Given the description of an element on the screen output the (x, y) to click on. 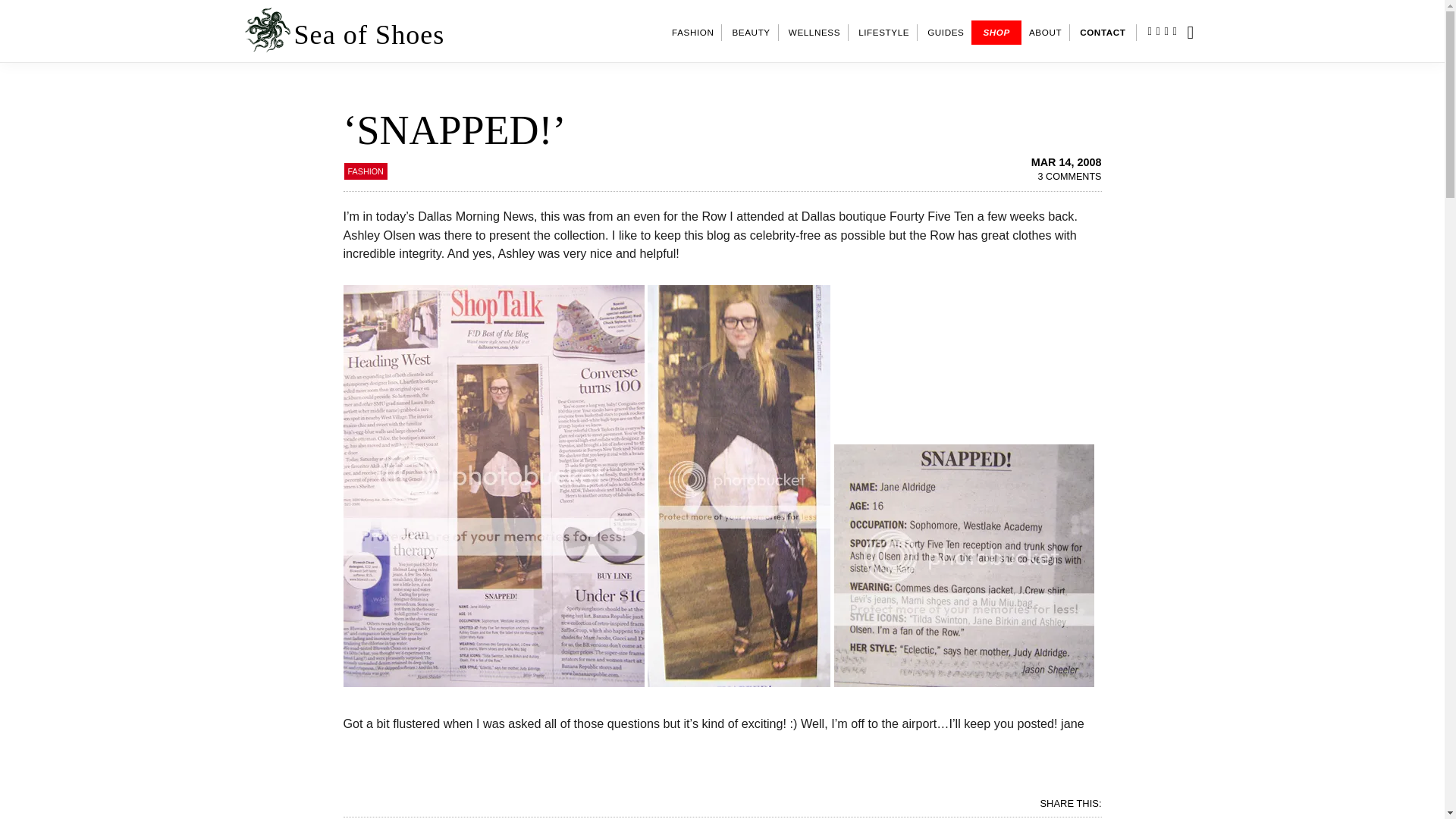
PINTEREST (1179, 31)
GUIDES (945, 32)
WELLNESS (814, 32)
SHOP (995, 32)
INSTAGRAM (1146, 31)
FASHION (364, 171)
ABOUT (1045, 32)
Sea of Shoes (369, 34)
SHOW SEARCH (1198, 32)
LIFESTYLE (883, 32)
BEAUTY (750, 32)
FASHION (692, 32)
CONTACT (1102, 32)
